Given the description of an element on the screen output the (x, y) to click on. 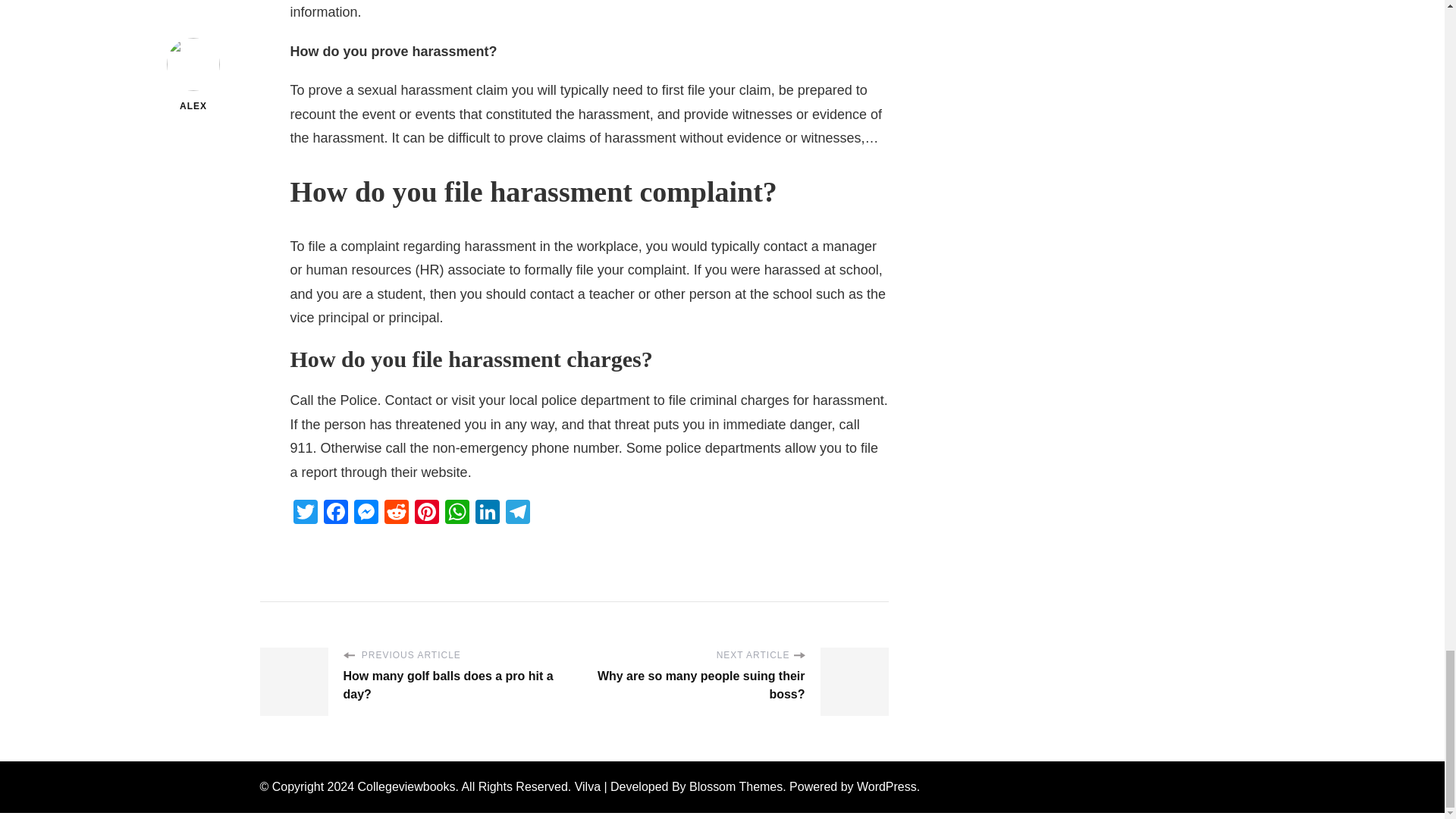
Messenger (365, 513)
Telegram (517, 513)
WhatsApp (456, 513)
Reddit (395, 513)
Twitter (304, 513)
Facebook (335, 513)
WhatsApp (456, 513)
Messenger (365, 513)
Pinterest (425, 513)
LinkedIn (486, 513)
Pinterest (425, 513)
Telegram (517, 513)
LinkedIn (486, 513)
Reddit (395, 513)
Facebook (335, 513)
